Given the description of an element on the screen output the (x, y) to click on. 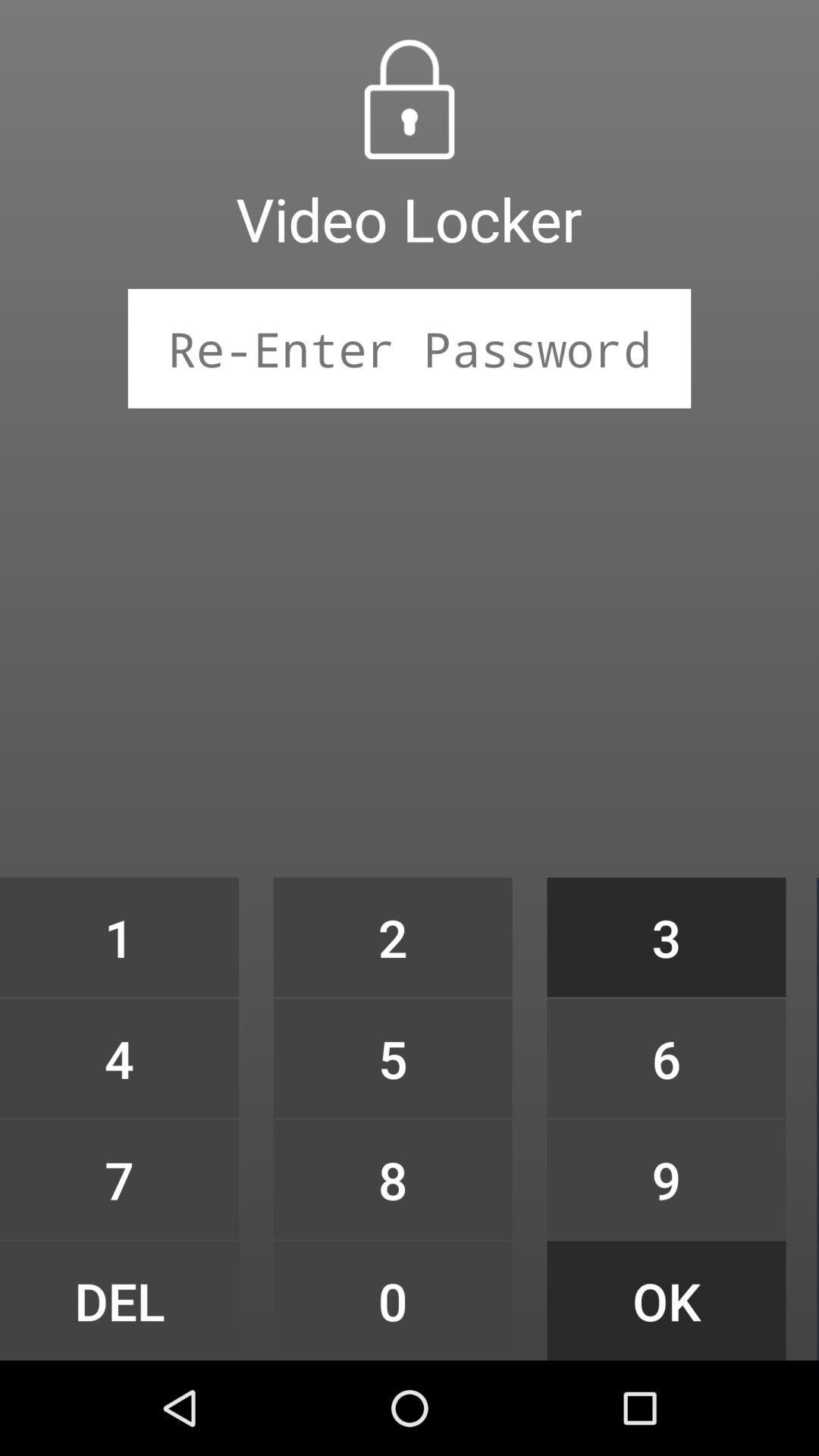
swipe until del (119, 1300)
